Given the description of an element on the screen output the (x, y) to click on. 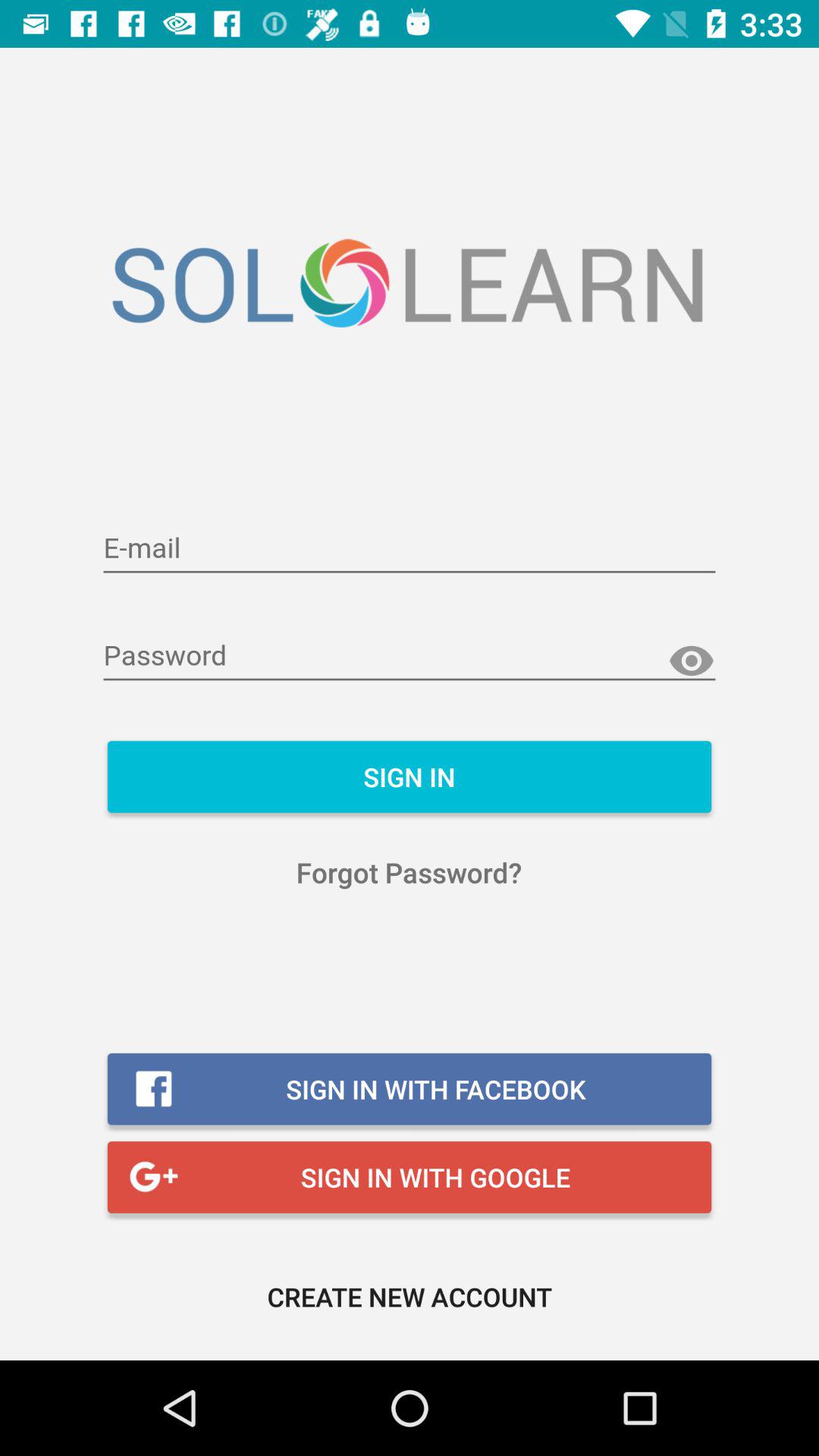
toggle personal information security option (409, 548)
